Given the description of an element on the screen output the (x, y) to click on. 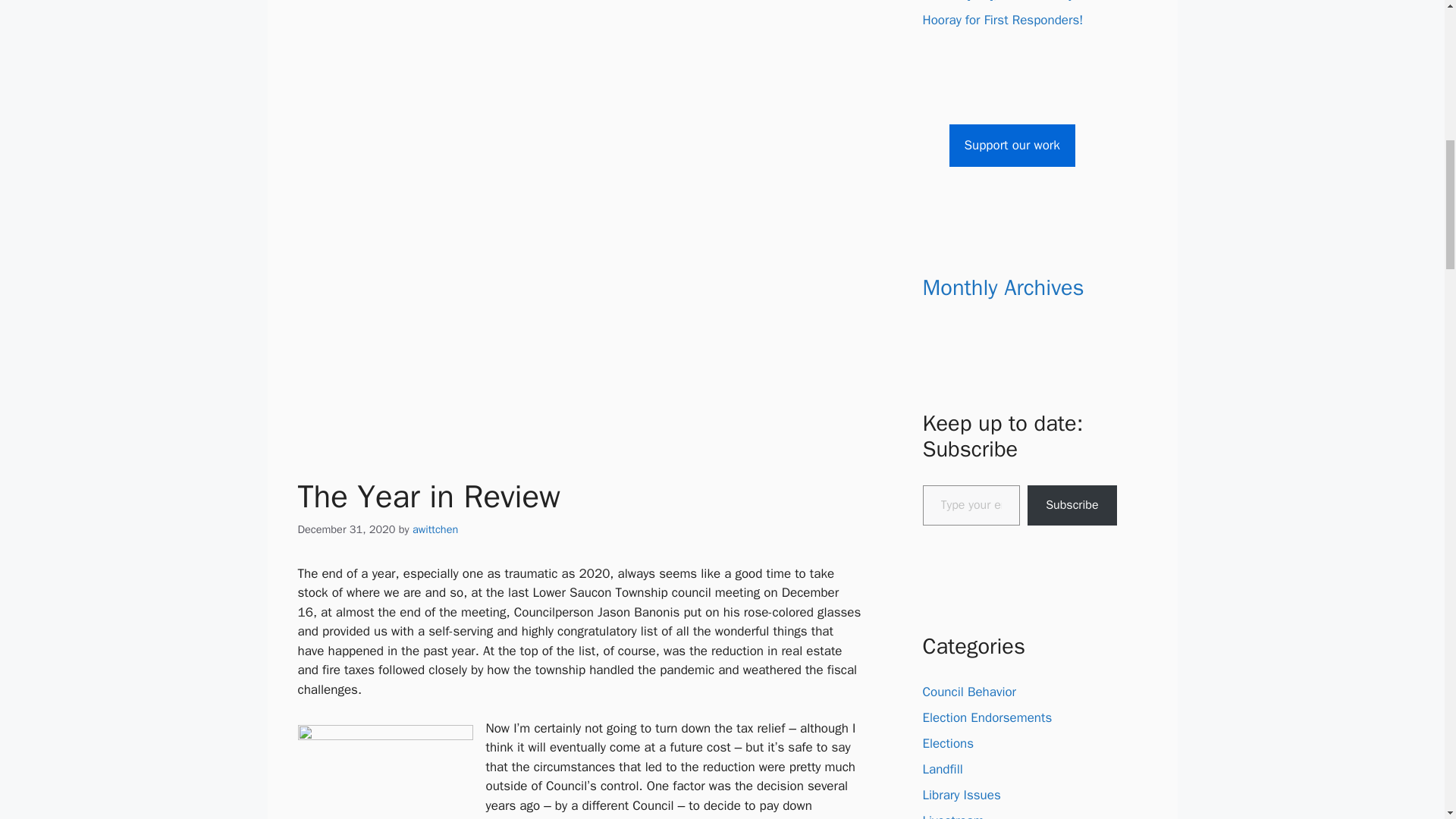
Please fill in this field. (970, 505)
awittchen (435, 529)
Election Endorsements (986, 717)
Livestream (952, 816)
Support our work (1012, 145)
Library Issues (960, 795)
Elections (947, 743)
View all posts by awittchen (435, 529)
Monthly Archives (1002, 287)
Landfill (941, 769)
Subscribe (1071, 505)
Council Behavior (968, 691)
Hooray for First Responders! (1002, 19)
Scroll back to top (1406, 720)
